Given the description of an element on the screen output the (x, y) to click on. 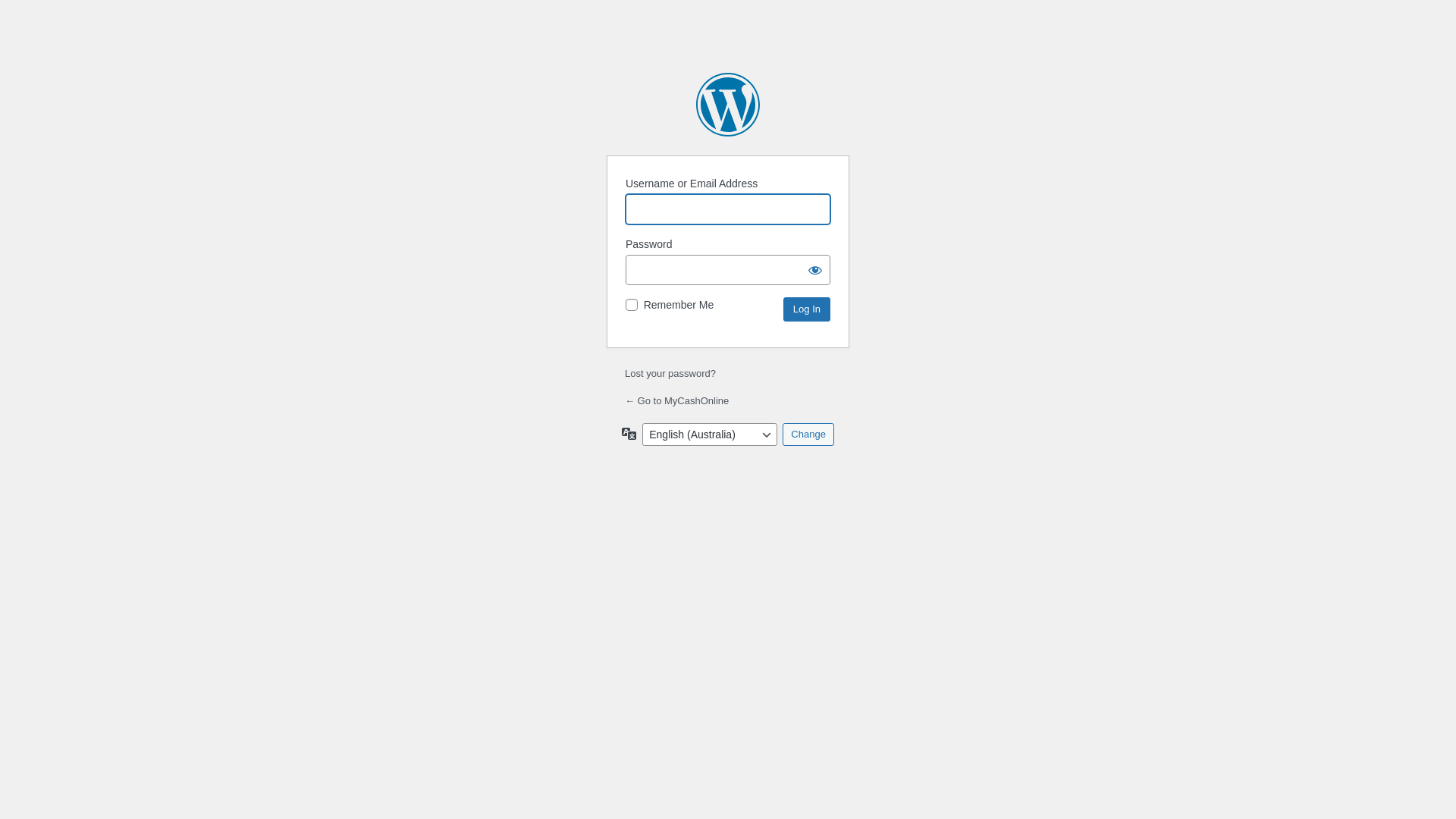
Lost your password? Element type: text (669, 373)
Log In Element type: text (806, 309)
Change Element type: text (808, 434)
Powered by WordPress Element type: text (727, 104)
